Given the description of an element on the screen output the (x, y) to click on. 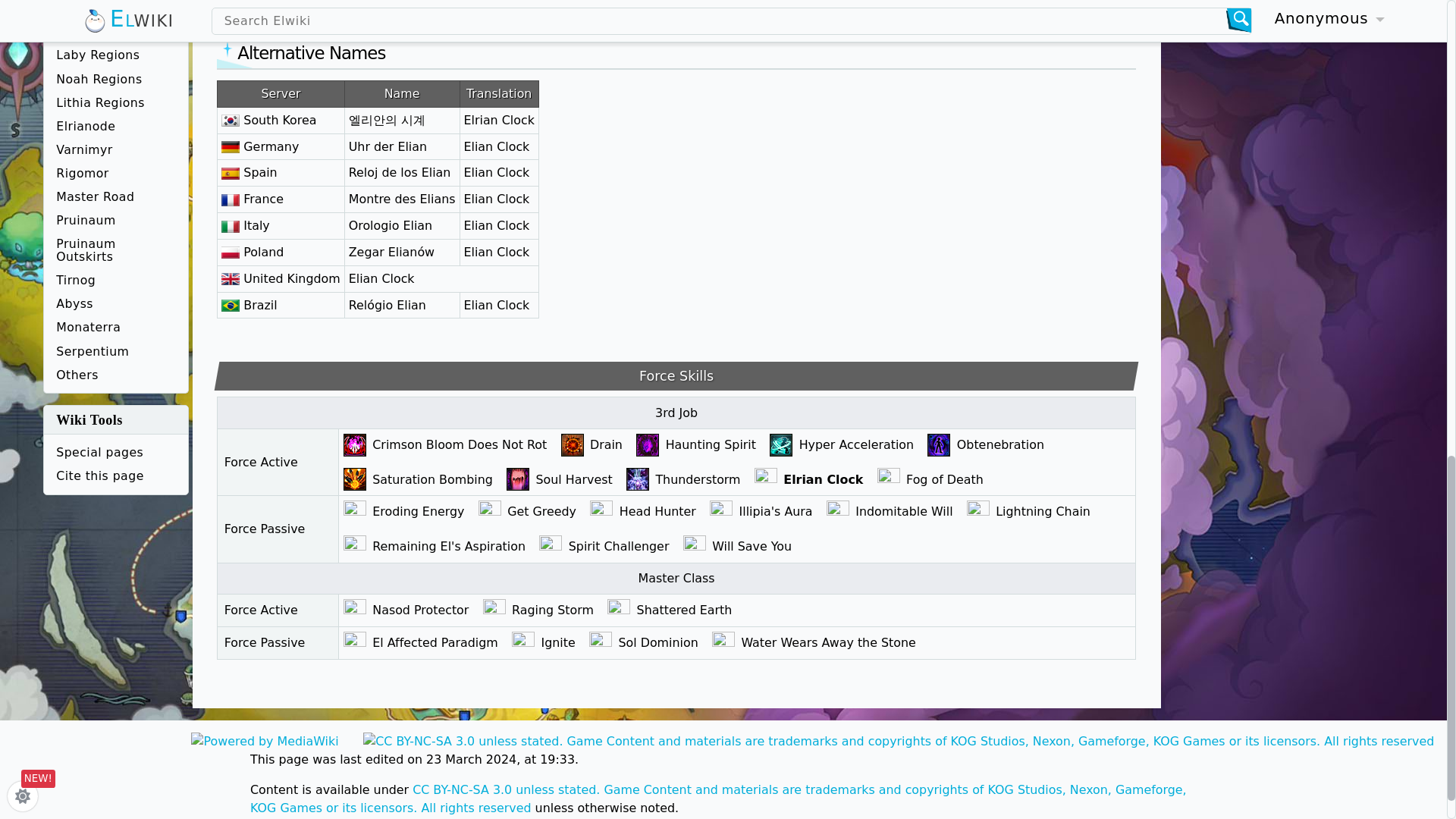
Haunting Spirit (712, 445)
Force Skills (676, 376)
Force Skills (676, 376)
Hyper Acceleration (858, 445)
Crimson Bloom Does Not Rot (462, 445)
Drain (608, 445)
3rd Job (676, 413)
